Given the description of an element on the screen output the (x, y) to click on. 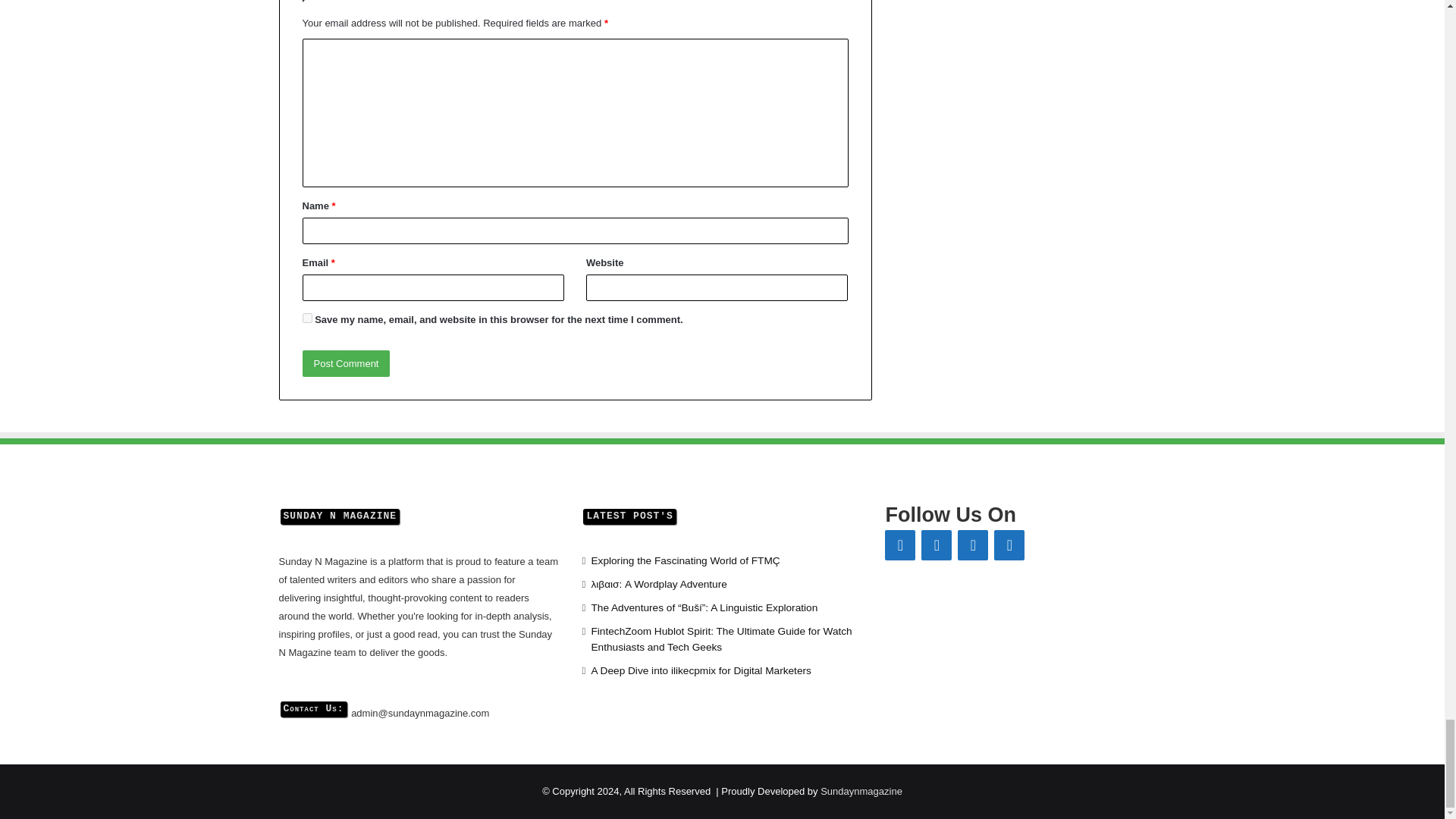
Post Comment (345, 363)
yes (306, 317)
